Given the description of an element on the screen output the (x, y) to click on. 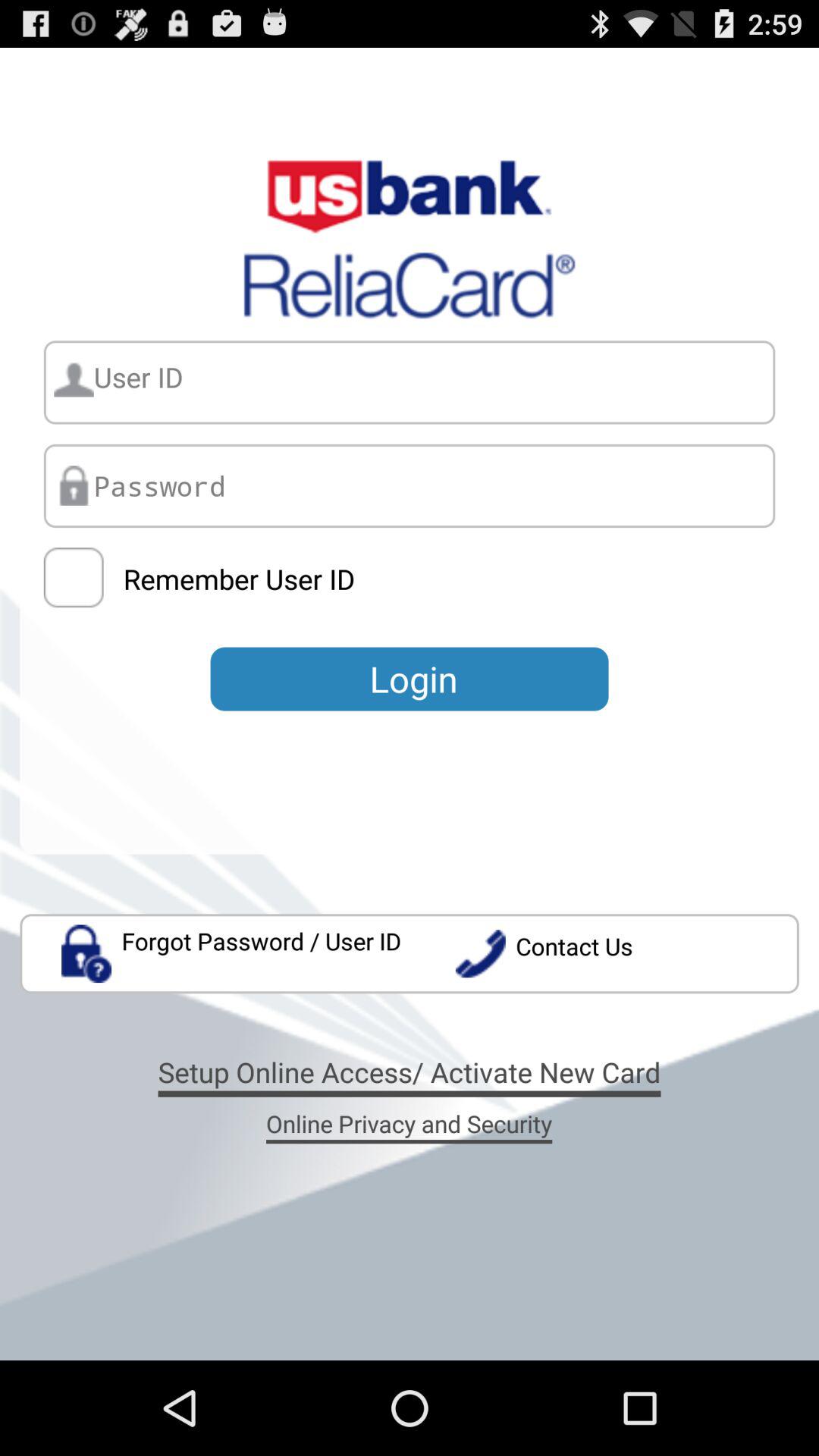
turn off the icon below forgot password user app (409, 1071)
